Given the description of an element on the screen output the (x, y) to click on. 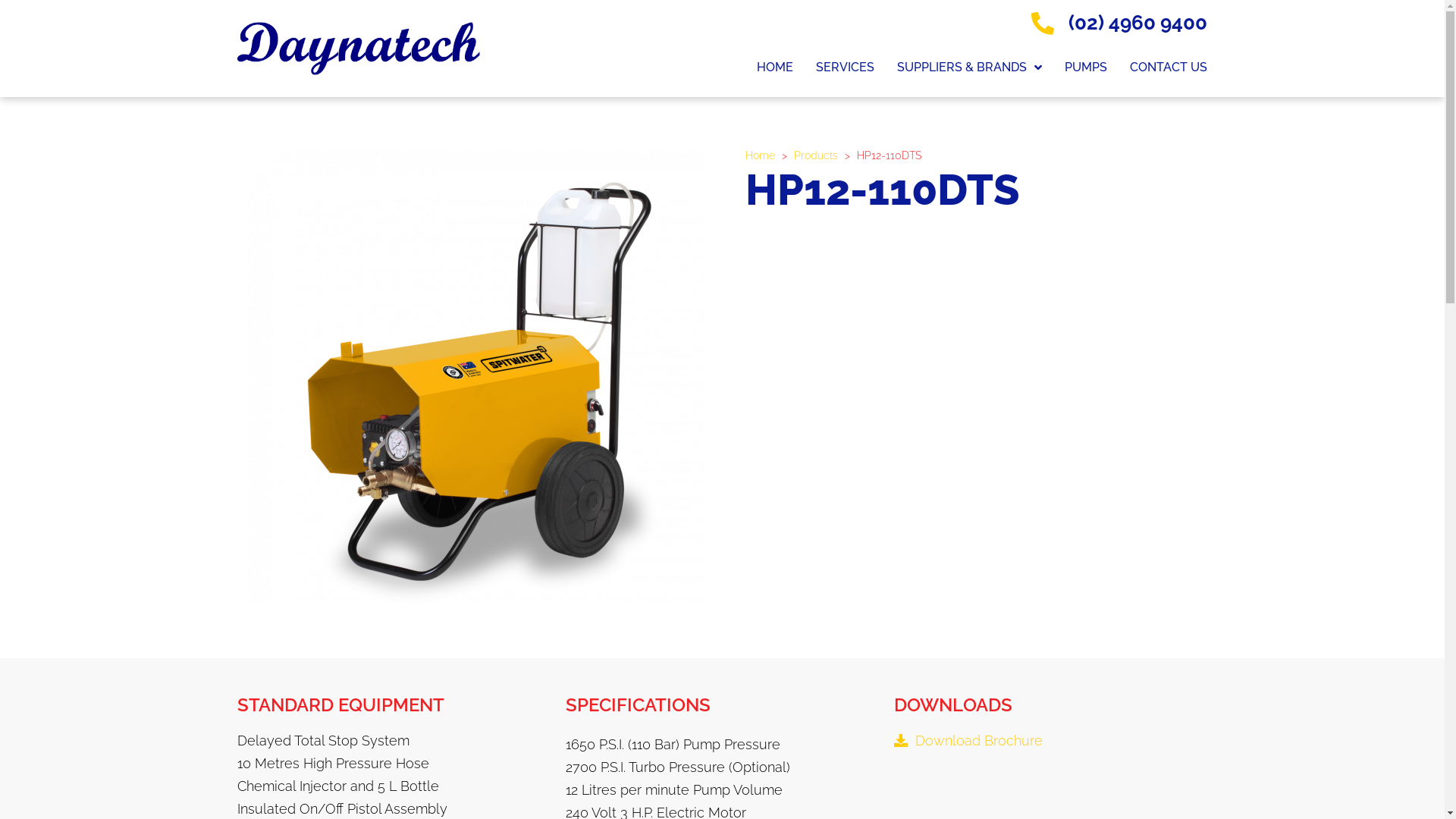
Home Element type: text (759, 154)
Products Element type: text (815, 154)
CONTACT US Element type: text (1168, 67)
PUMPS Element type: text (1085, 67)
HOME Element type: text (774, 67)
SUPPLIERS & BRANDS Element type: text (969, 67)
(02) 4960 9400 Element type: text (1117, 23)
Download Brochure Element type: text (968, 740)
SERVICES Element type: text (844, 67)
Spitwater_SCW70TS_HP12110DTS Element type: hover (475, 377)
